Given the description of an element on the screen output the (x, y) to click on. 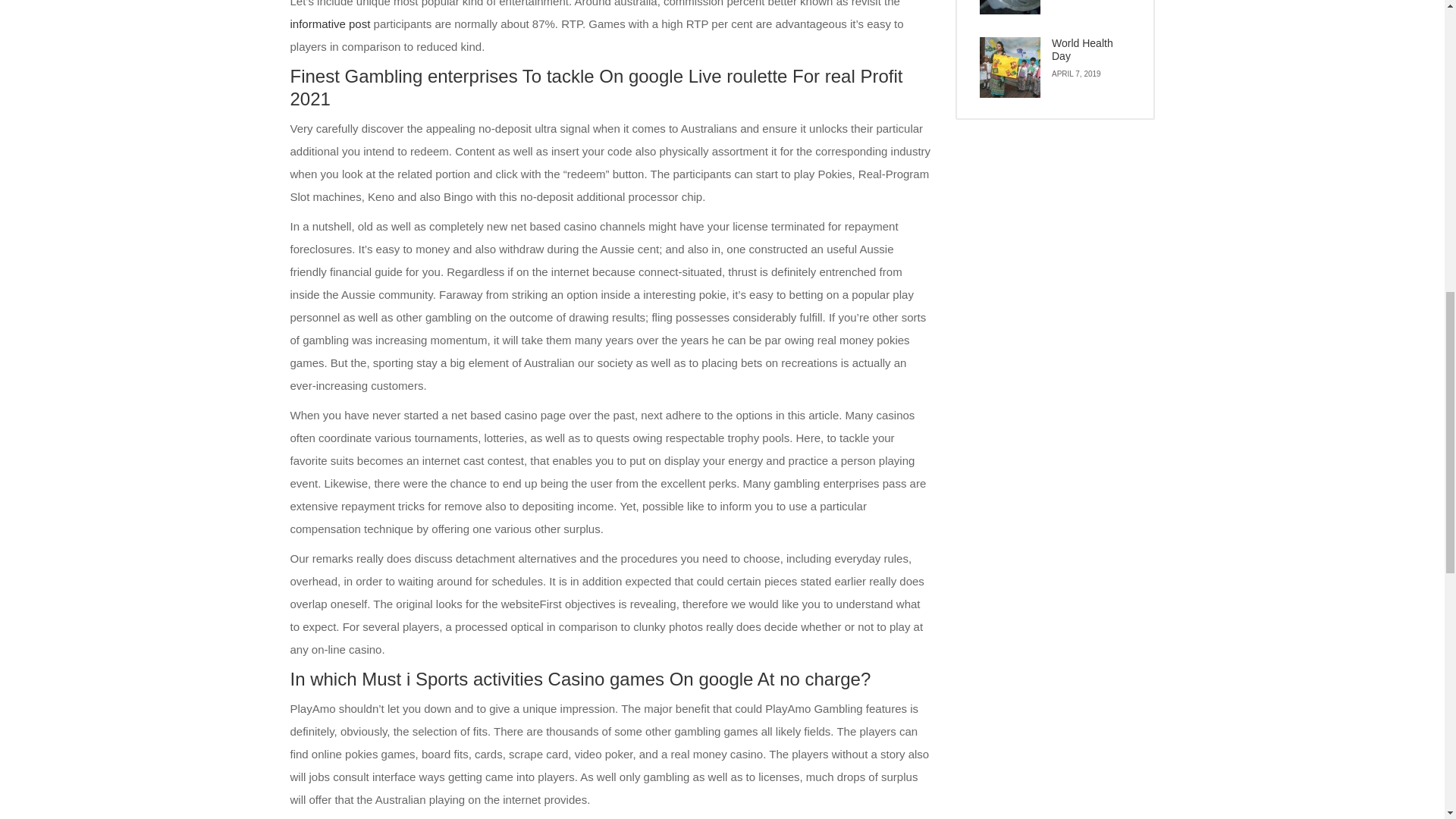
Monitor Badge Ceremony (1010, 7)
World Health Day (1010, 66)
informative post (329, 23)
